Given the description of an element on the screen output the (x, y) to click on. 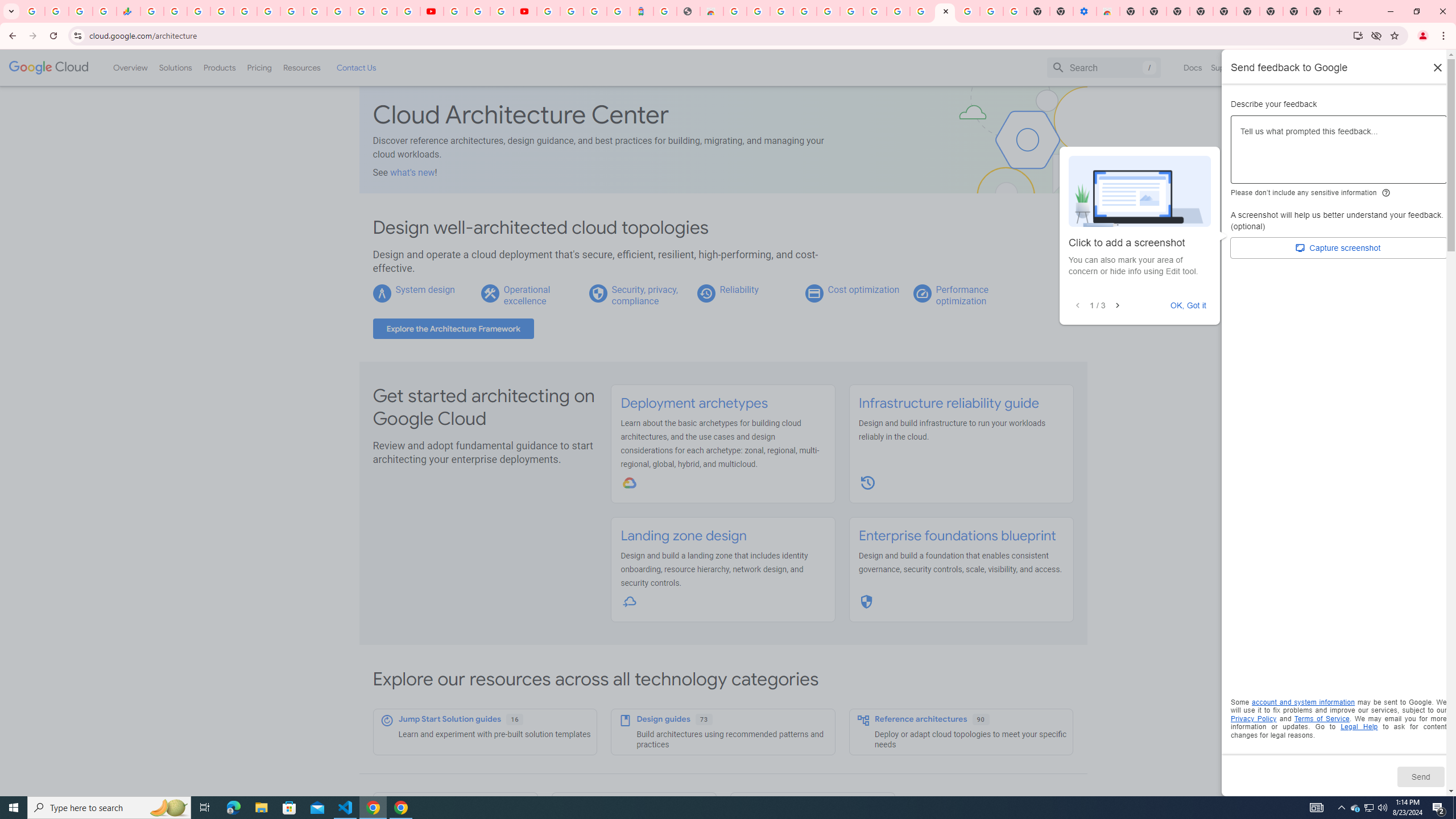
Opens in a new tab. Terms of Service (1321, 718)
Browse the Google Chrome Community - Google Chrome Community (921, 11)
Android TV Policies and Guidelines - Transparency Center (291, 11)
Google Workspace Admin Community (32, 11)
Turn cookies on or off - Computer - Google Account Help (1015, 11)
System design (424, 289)
